Given the description of an element on the screen output the (x, y) to click on. 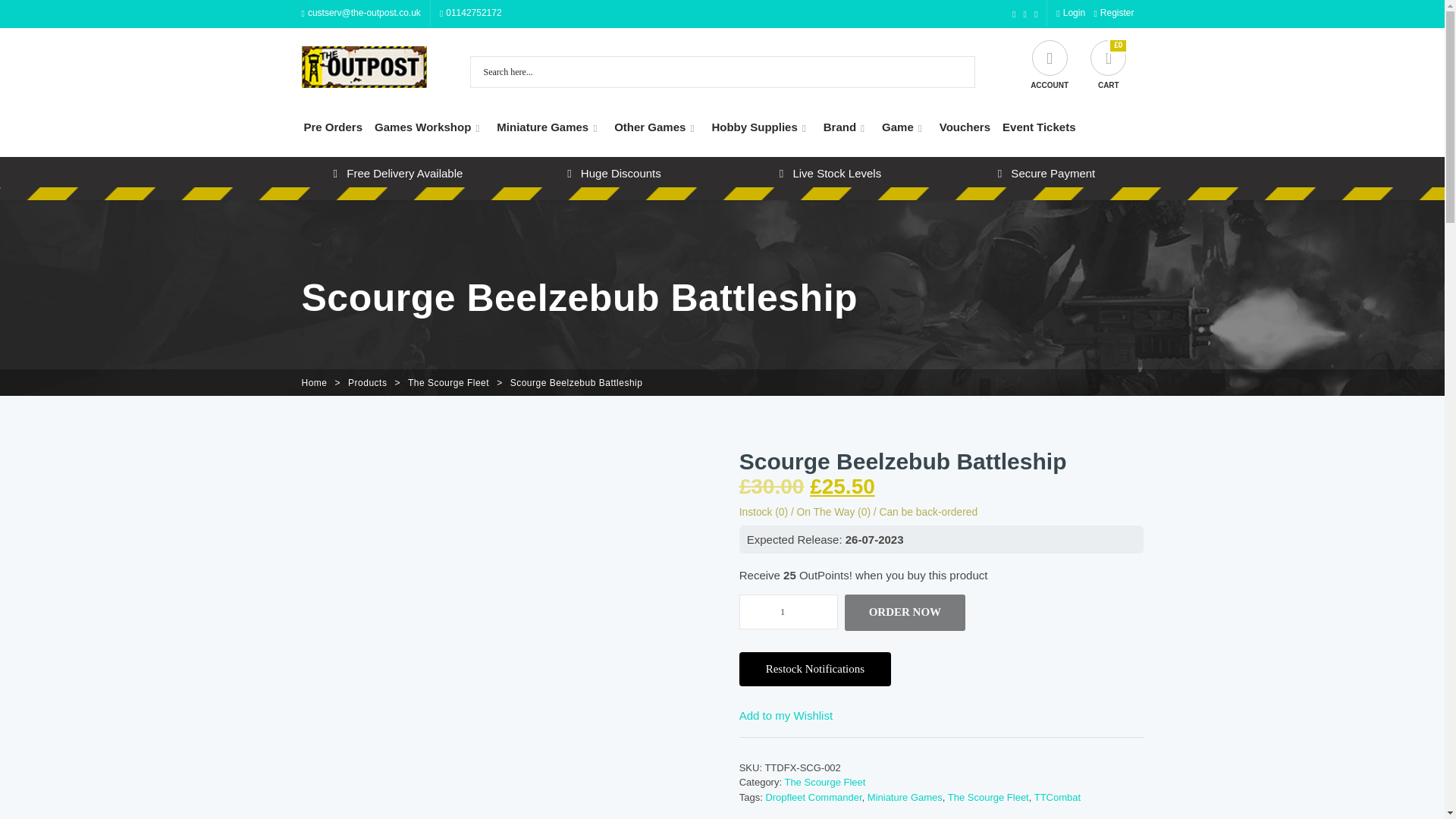
Home (314, 382)
Products (367, 382)
Pre Orders (332, 126)
Register (1113, 12)
Restock Notifications (815, 668)
1 (788, 611)
Games Workshop (429, 126)
01142752172 (470, 12)
Scourge Beelzebub Battleship (577, 382)
The Scourge Fleet (448, 382)
